Given the description of an element on the screen output the (x, y) to click on. 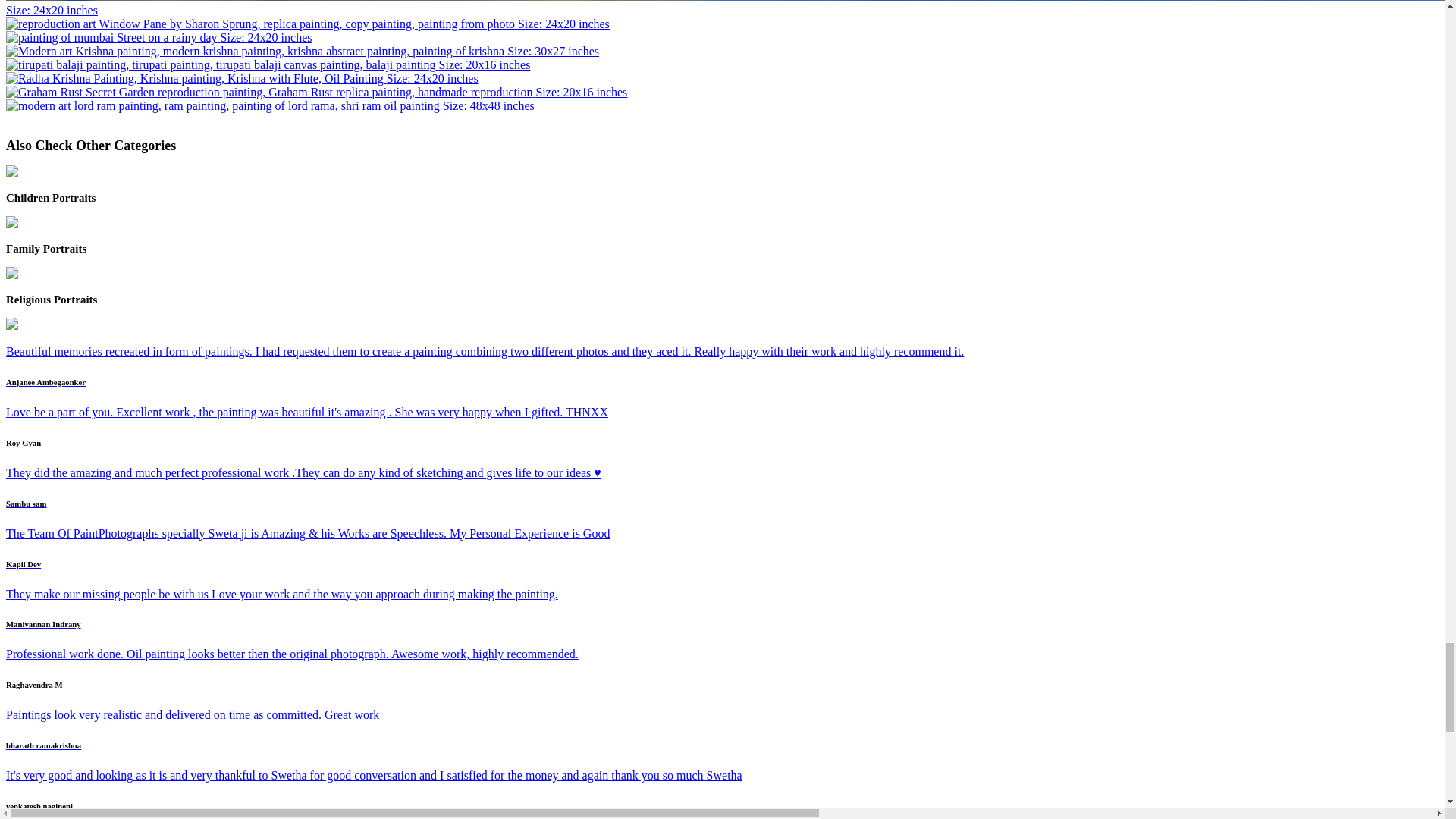
Size: 24x20 inches (158, 37)
Size: 20x16 inches (267, 64)
Size: 24x20 inches (307, 23)
Size: 48x48 inches (269, 105)
Size: 30x27 inches (301, 51)
Size: 20x16 inches (316, 91)
Size: 24x20 inches (242, 78)
Size: 24x20 inches (730, 8)
